Given the description of an element on the screen output the (x, y) to click on. 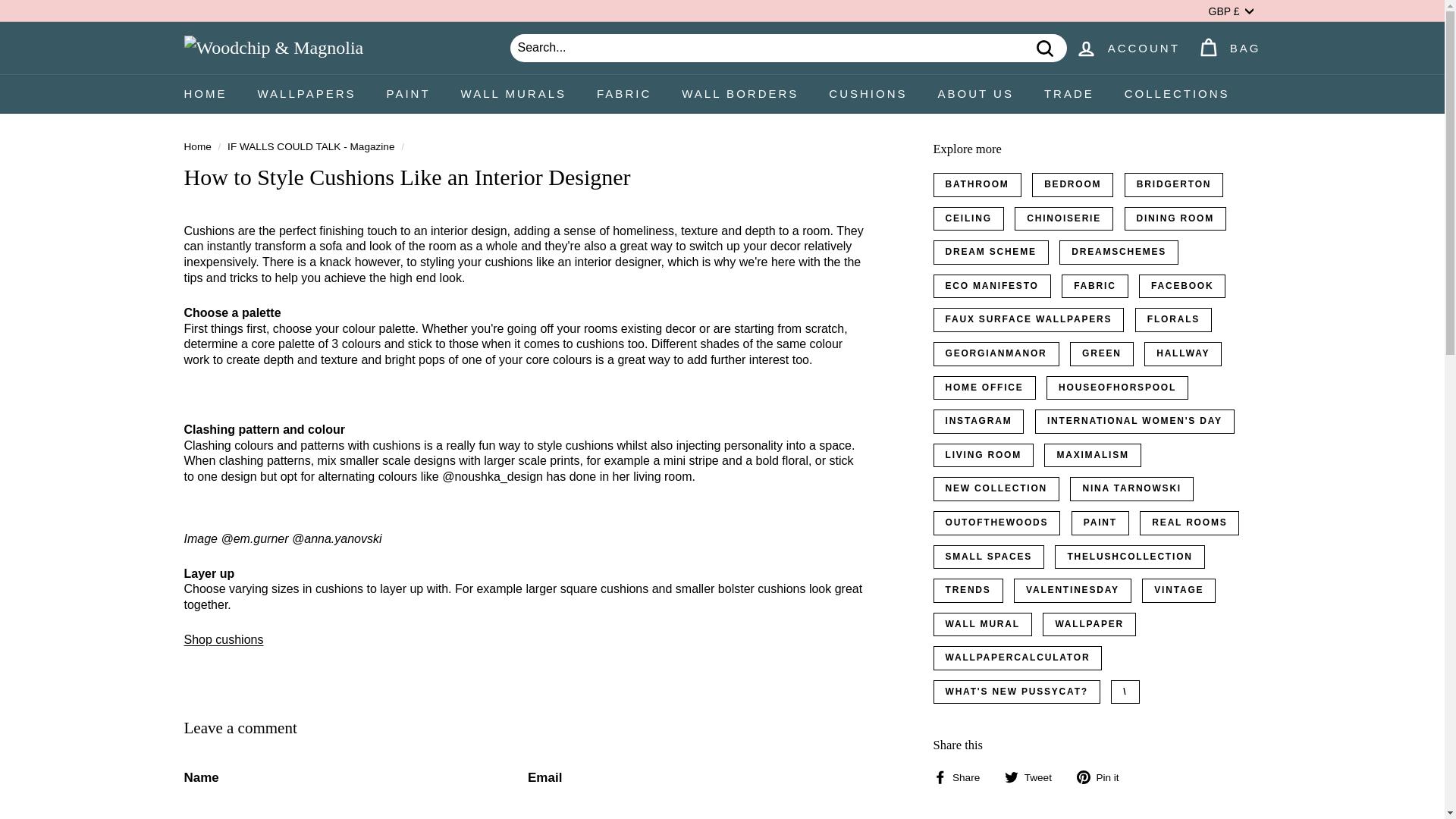
Back to the frontpage (197, 146)
Pin on Pinterest (1104, 777)
Share on Facebook (962, 777)
cushions (223, 639)
Tweet on Twitter (1033, 777)
